Given the description of an element on the screen output the (x, y) to click on. 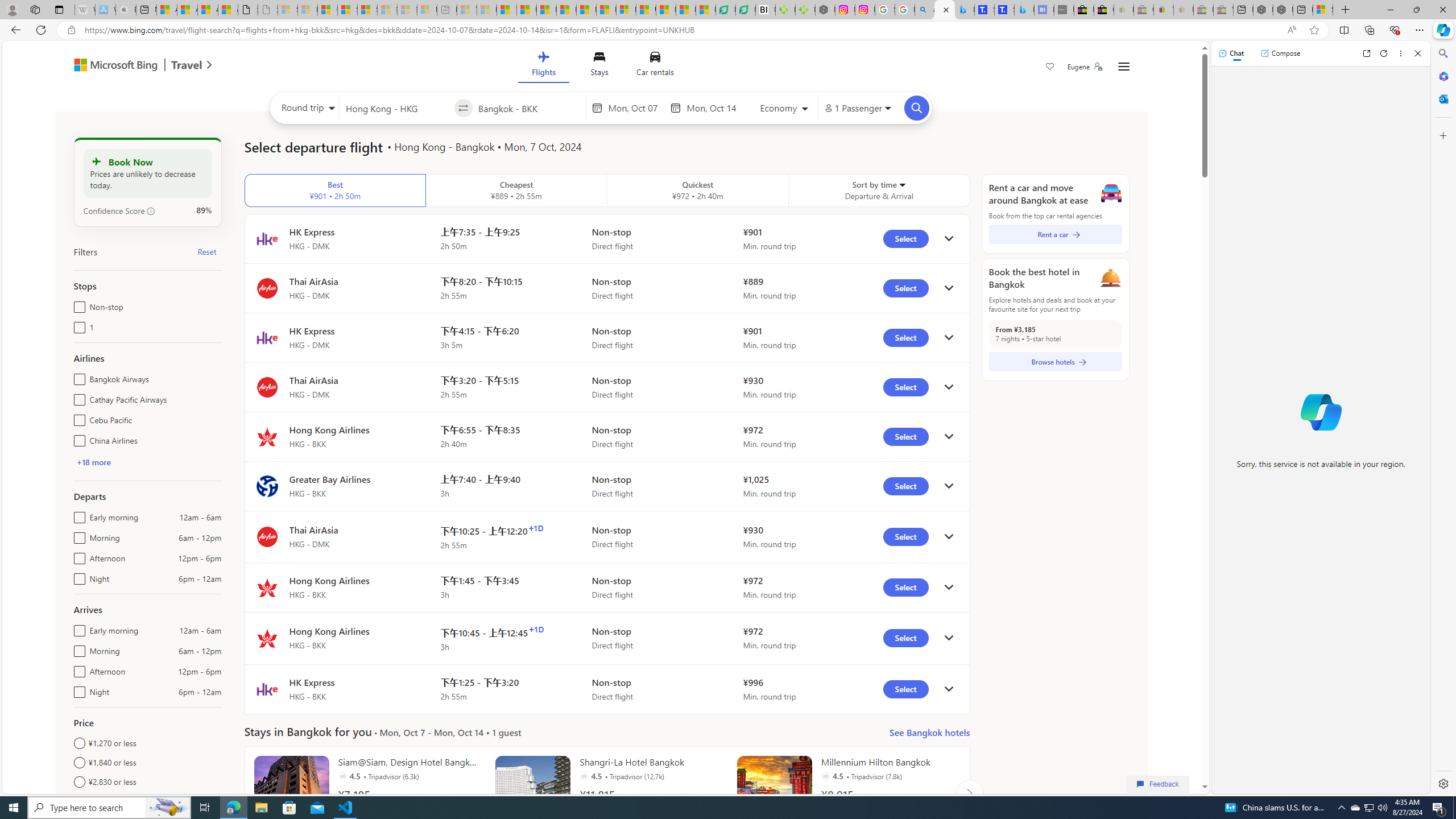
Open link in new tab (1366, 53)
US Heat Deaths Soared To Record High Last Year (646, 9)
Aberdeen, Hong Kong SAR severe weather | Microsoft Weather (227, 9)
Class: trvl-hub-header nofilter (601, 65)
Nvidia va a poner a prueba la paciencia de los inversores (765, 9)
Car rentals (654, 65)
